Given the description of an element on the screen output the (x, y) to click on. 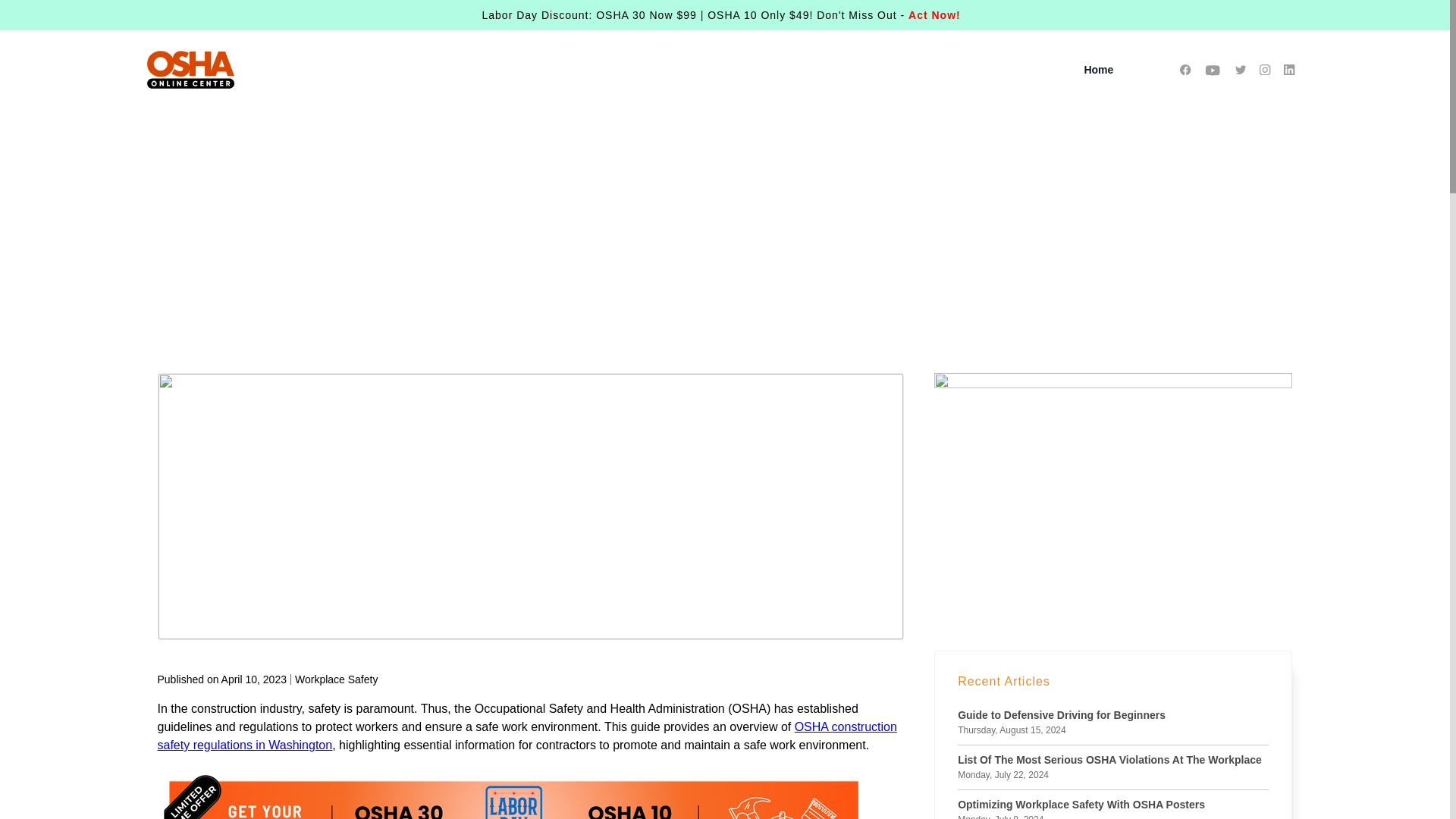
List Of The Most Serious OSHA Violations At The Workplace (1110, 760)
Home (1098, 69)
OSHA construction safety regulations in Washington (526, 735)
Guide to Defensive Driving for Beginners (1062, 715)
Optimizing Workplace Safety With OSHA Posters (1081, 805)
